Given the description of an element on the screen output the (x, y) to click on. 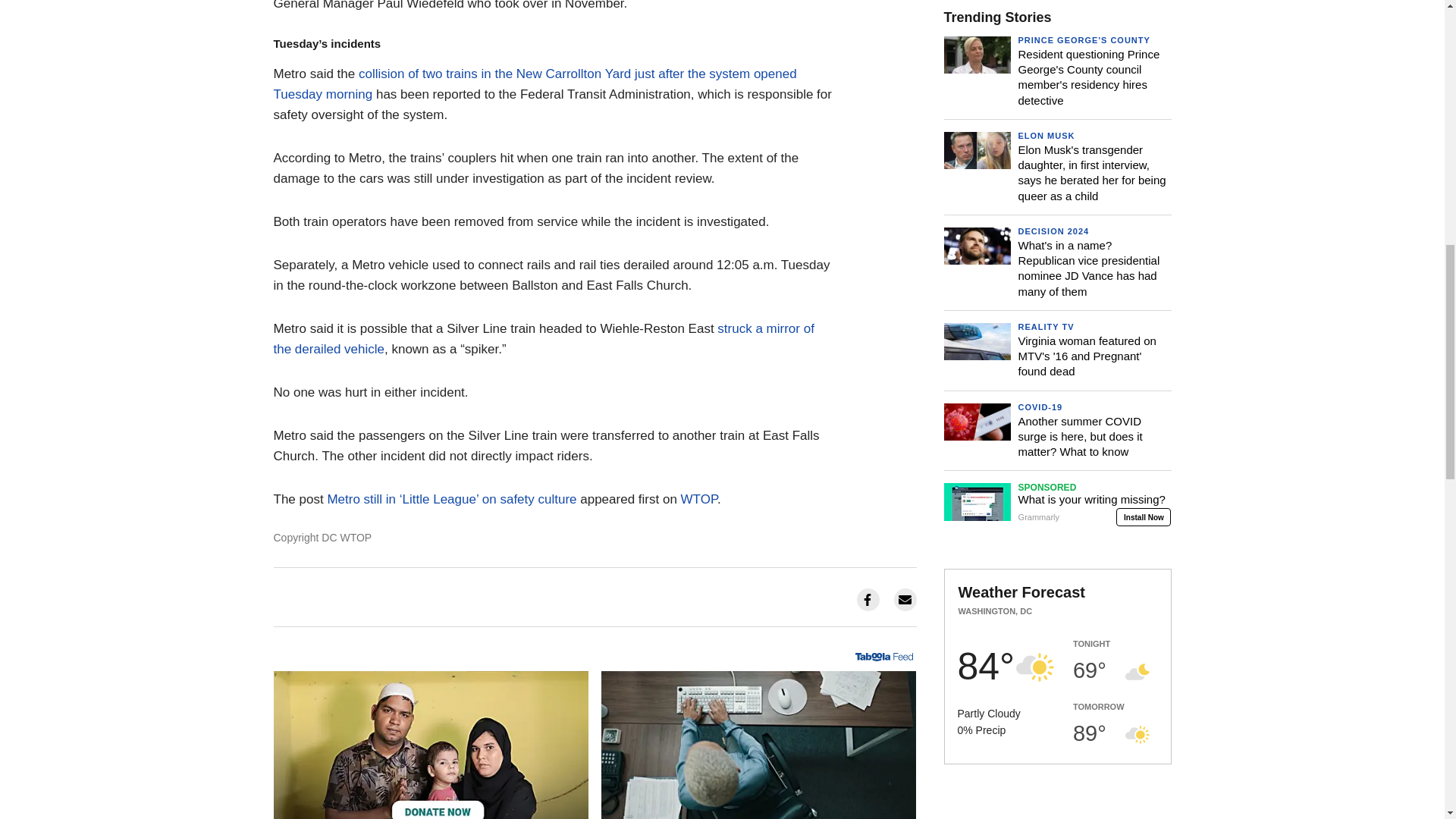
struck a mirror of the derailed vehicle (543, 338)
WTOP (699, 499)
